Given the description of an element on the screen output the (x, y) to click on. 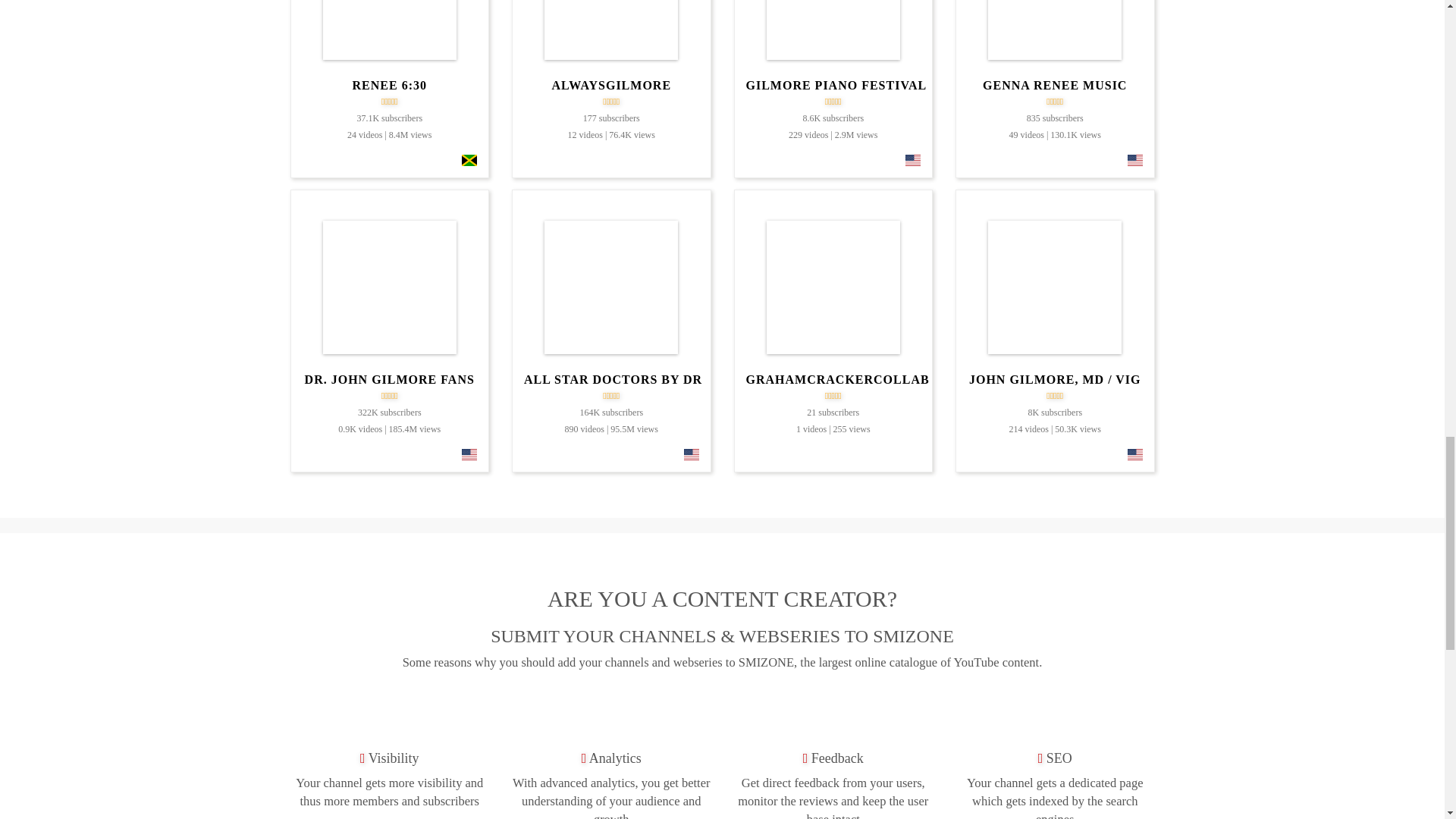
alwaysgilmore (611, 89)
Gilmore Piano Festival (833, 89)
United States (912, 160)
Jamaica (469, 160)
Genna Renee Music (1054, 89)
United States (469, 454)
United States (1133, 160)
Renee 6:30 (389, 89)
United States (1133, 454)
United States (691, 454)
